Given the description of an element on the screen output the (x, y) to click on. 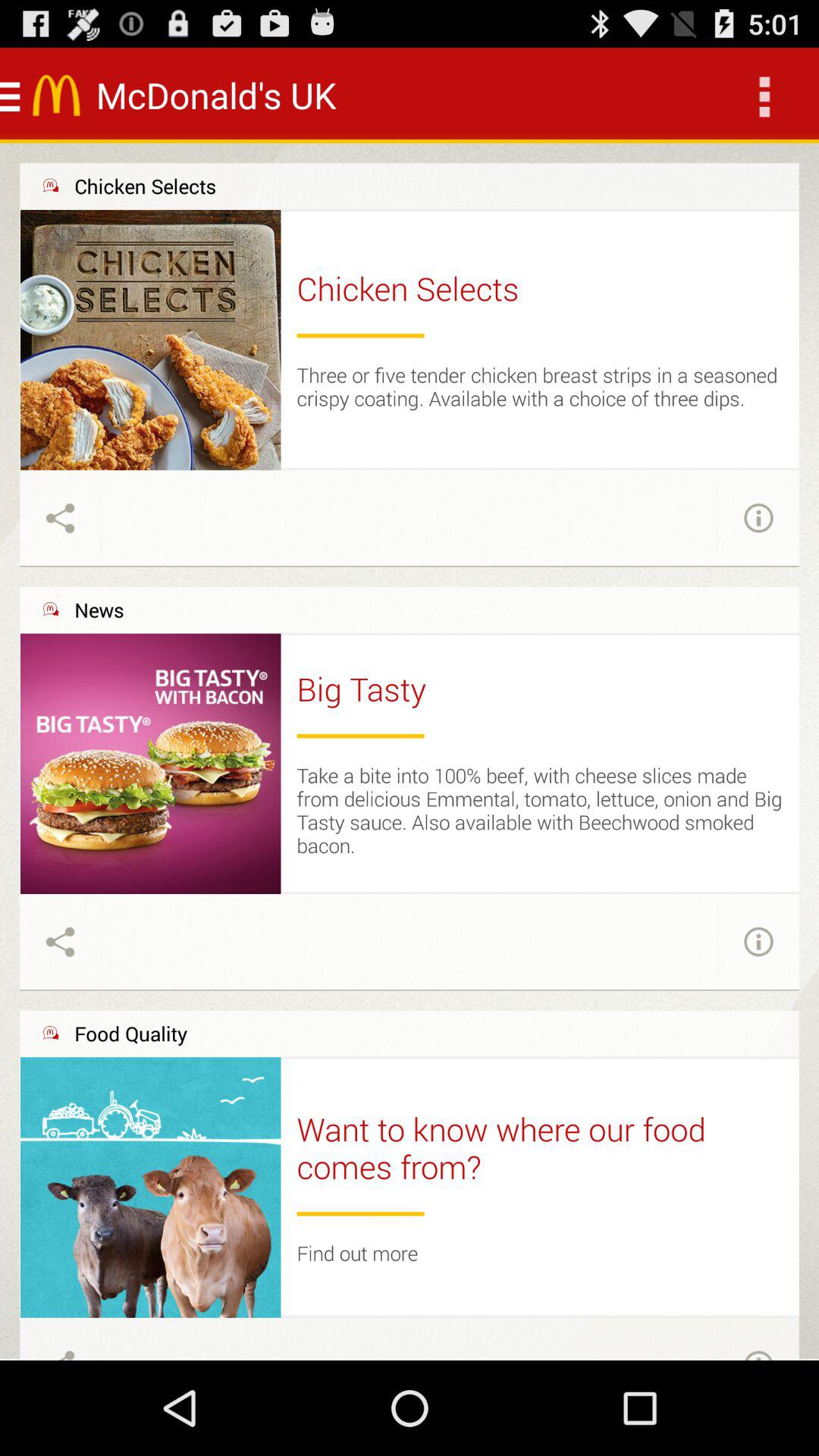
tap icon at the top right corner (763, 95)
